Given the description of an element on the screen output the (x, y) to click on. 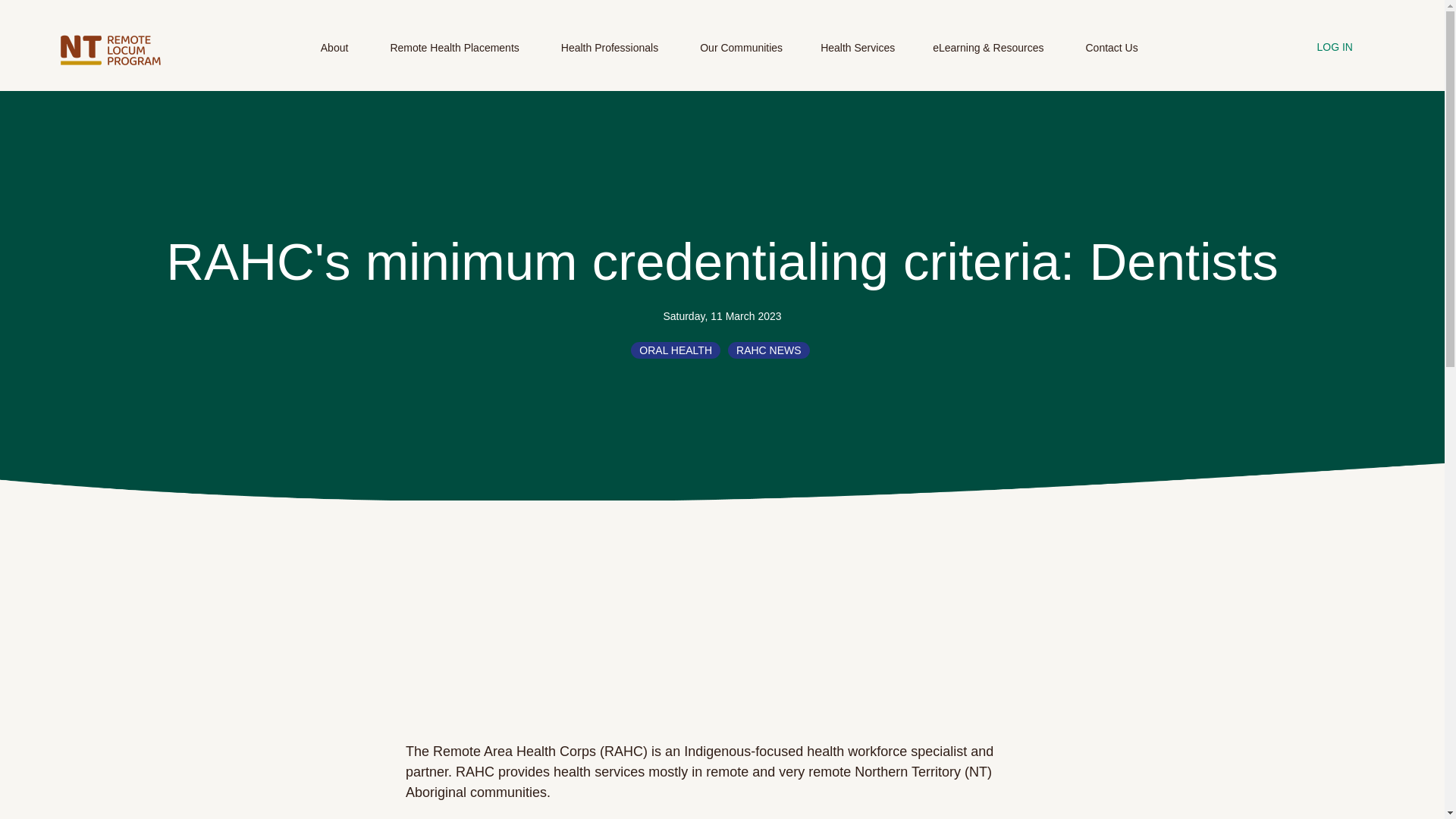
Health Services (858, 55)
RAHC NEWS (768, 350)
ORAL HEALTH (675, 350)
Remote Health Placements (456, 55)
LOG IN (1340, 47)
Contact Us (1110, 55)
Health Professionals (611, 55)
Our Communities (741, 55)
About (336, 55)
